Given the description of an element on the screen output the (x, y) to click on. 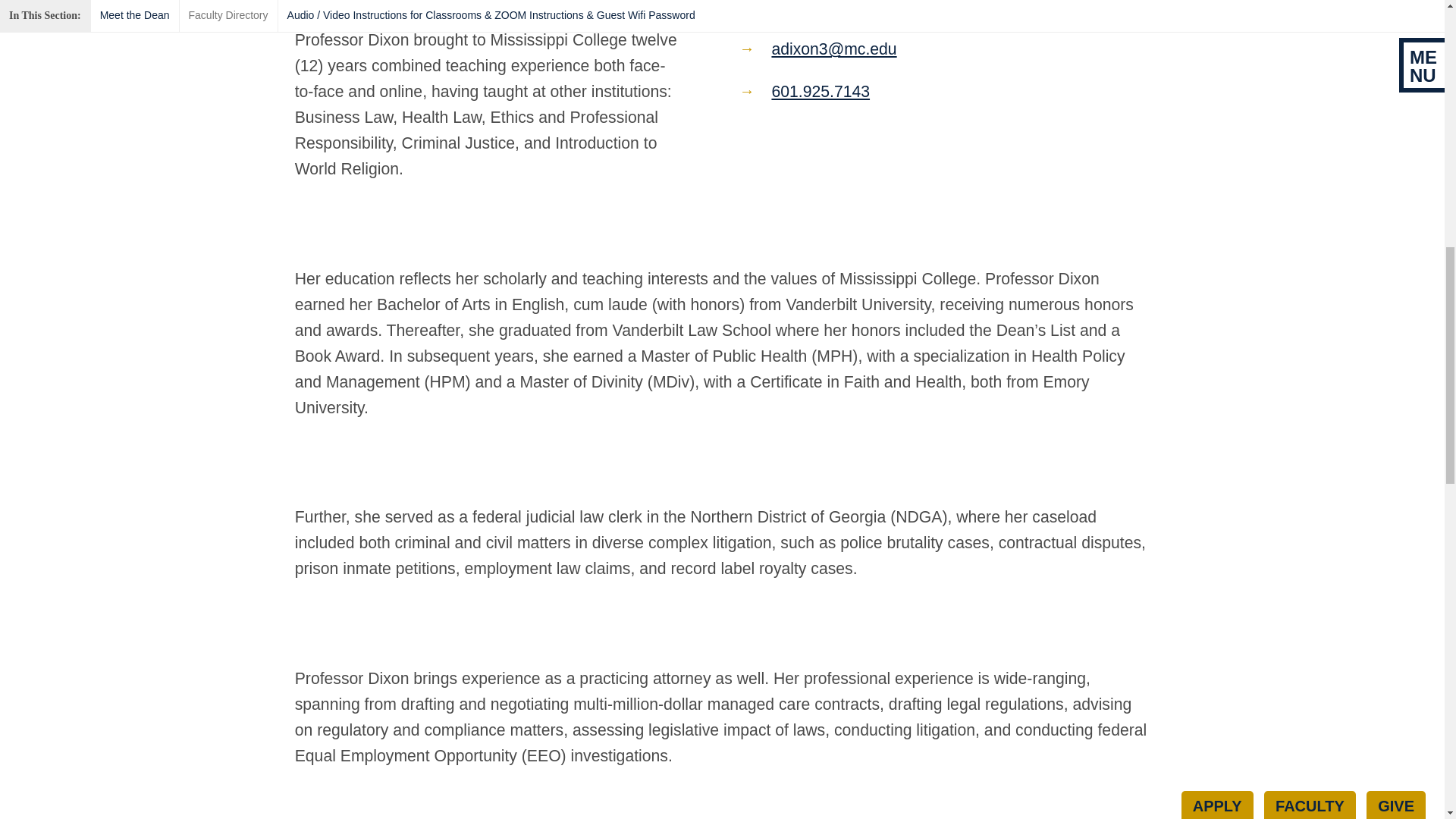
601.925.7143 (820, 90)
